Given the description of an element on the screen output the (x, y) to click on. 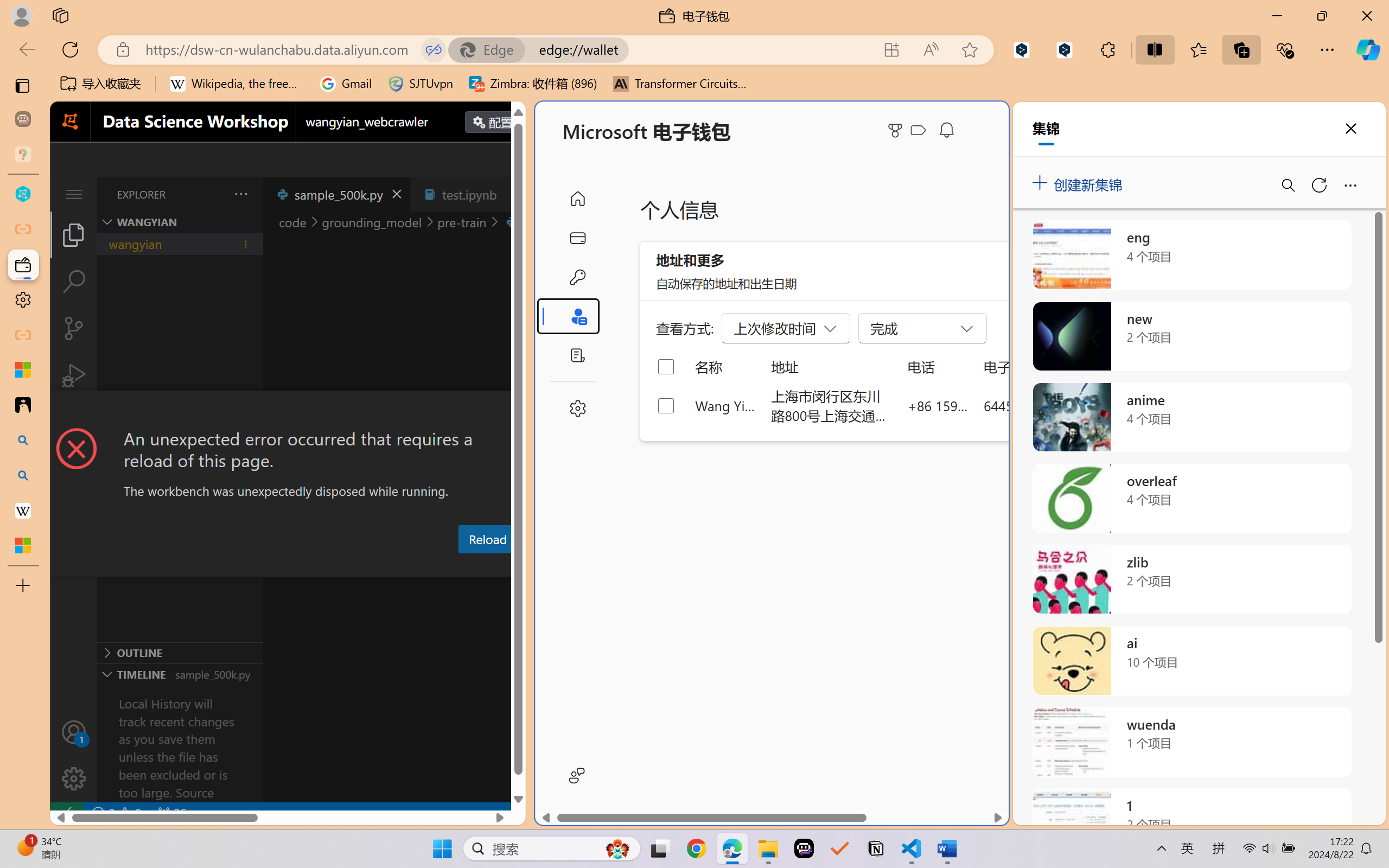
Wikipedia, the free encyclopedia (236, 83)
Application Menu (73, 194)
remote (66, 812)
Class: menubar compact overflow-menu-only (73, 194)
+86 159 0032 4640 (938, 405)
